Given the description of an element on the screen output the (x, y) to click on. 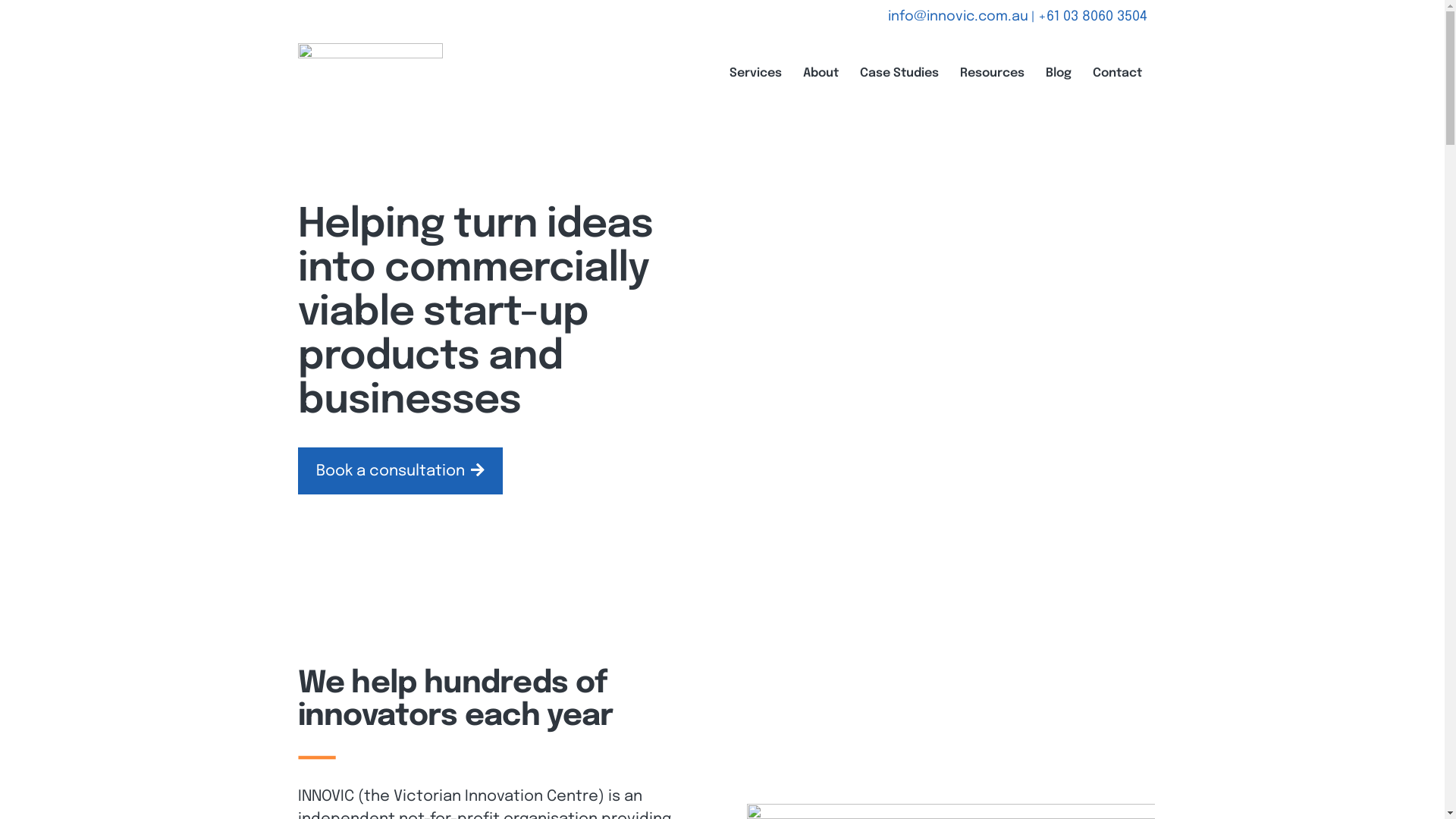
About Element type: text (820, 73)
Contact Element type: text (1117, 73)
info@innovic.com.au Element type: text (957, 16)
Book a consultation Element type: text (399, 470)
Services Element type: text (755, 73)
+61 03 8060 3504 Element type: text (1091, 16)
Case Studies Element type: text (899, 73)
Resources Element type: text (992, 73)
Blog Element type: text (1058, 73)
